Given the description of an element on the screen output the (x, y) to click on. 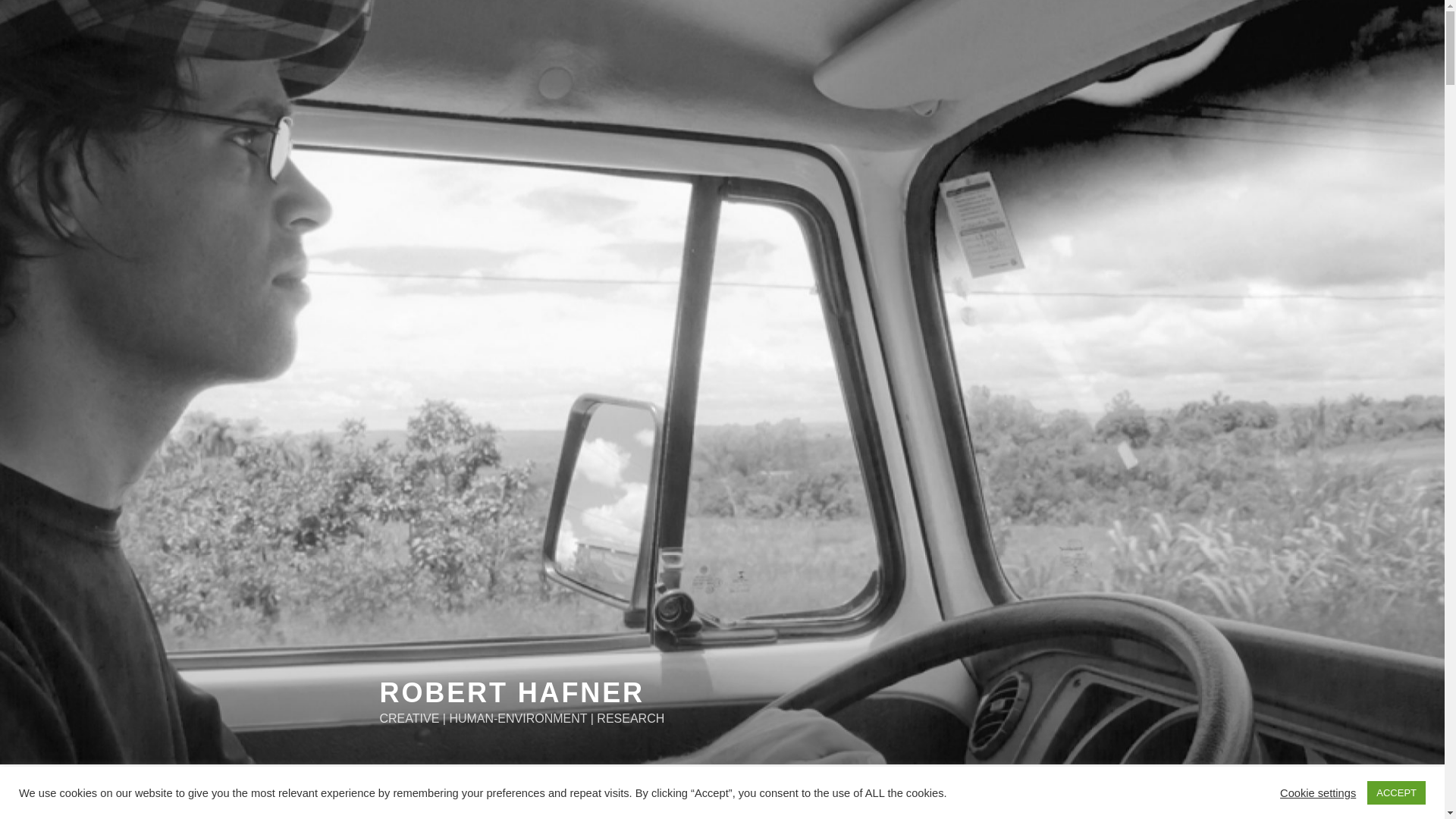
Literature (782, 791)
Projects (452, 791)
Scroll down to content (1082, 791)
Publications (540, 791)
Tools (855, 791)
Scroll down to content (1082, 791)
Links (912, 791)
Vita (386, 791)
ROBERT HAFNER (510, 692)
